Given the description of an element on the screen output the (x, y) to click on. 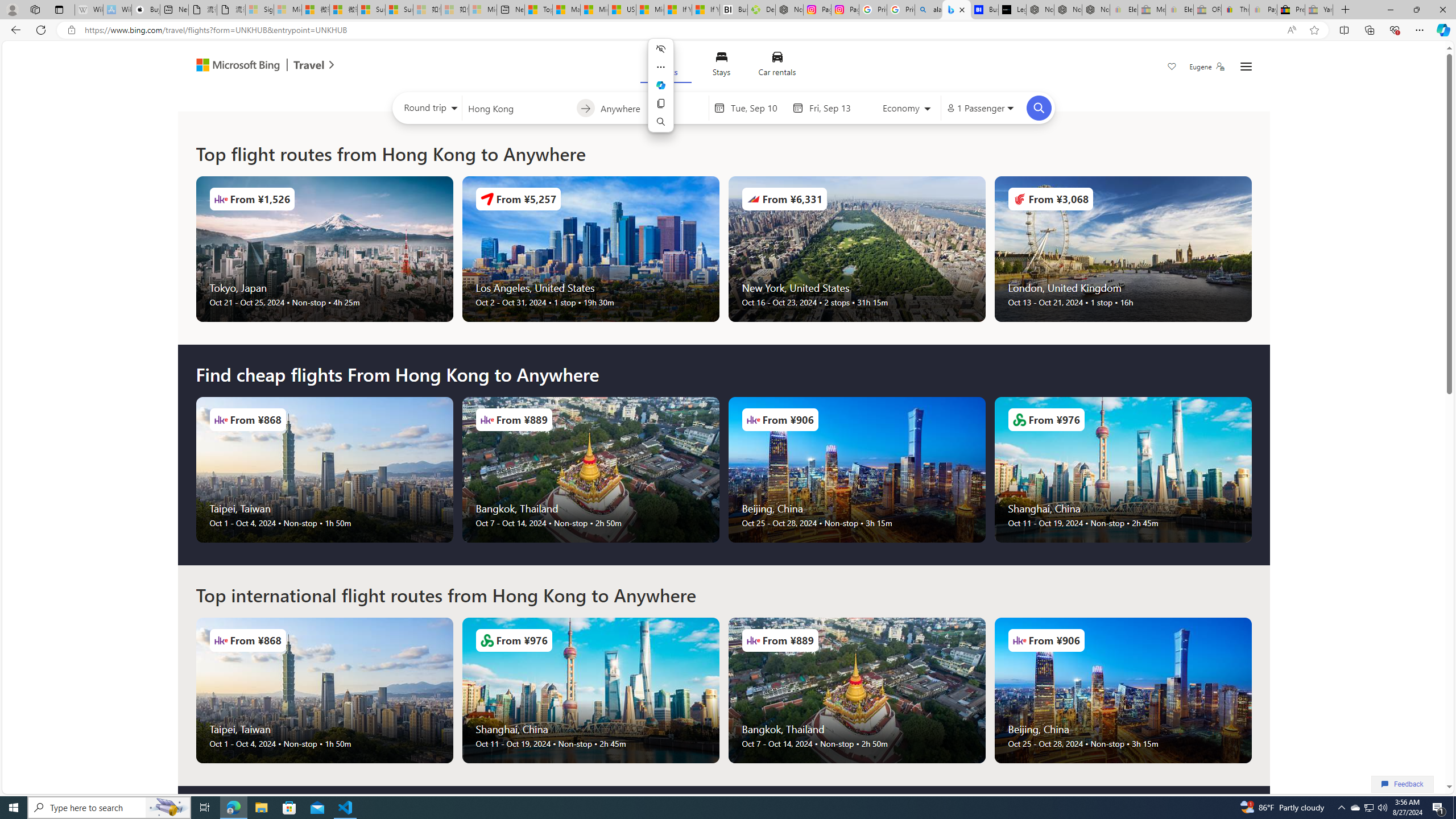
Class: msft-bing-logo msft-bing-logo-desktop (234, 64)
Microsoft Bing Travel (253, 65)
Ask Copilot (659, 85)
Microsoft Bing Travel - Flights (956, 9)
Descarga Driver Updater (761, 9)
Marine life - MSN (566, 9)
Leaving from? (518, 107)
Class: autosuggest-container full-height no-y-padding (651, 107)
Airlines Logo (1018, 640)
